Given the description of an element on the screen output the (x, y) to click on. 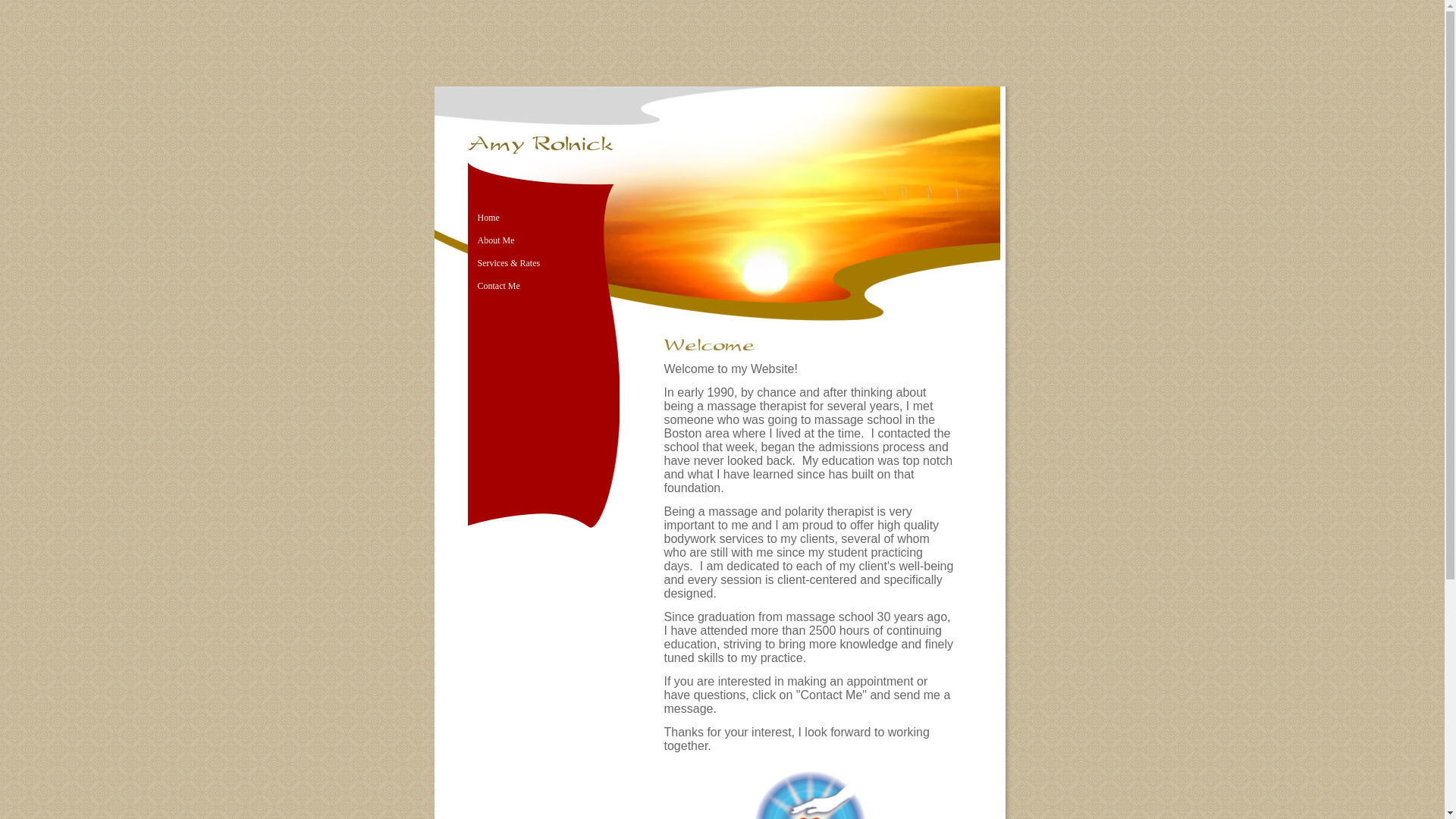
Advertisement (721, 41)
Contact Me (498, 285)
Home (488, 217)
About Me (496, 240)
